Given the description of an element on the screen output the (x, y) to click on. 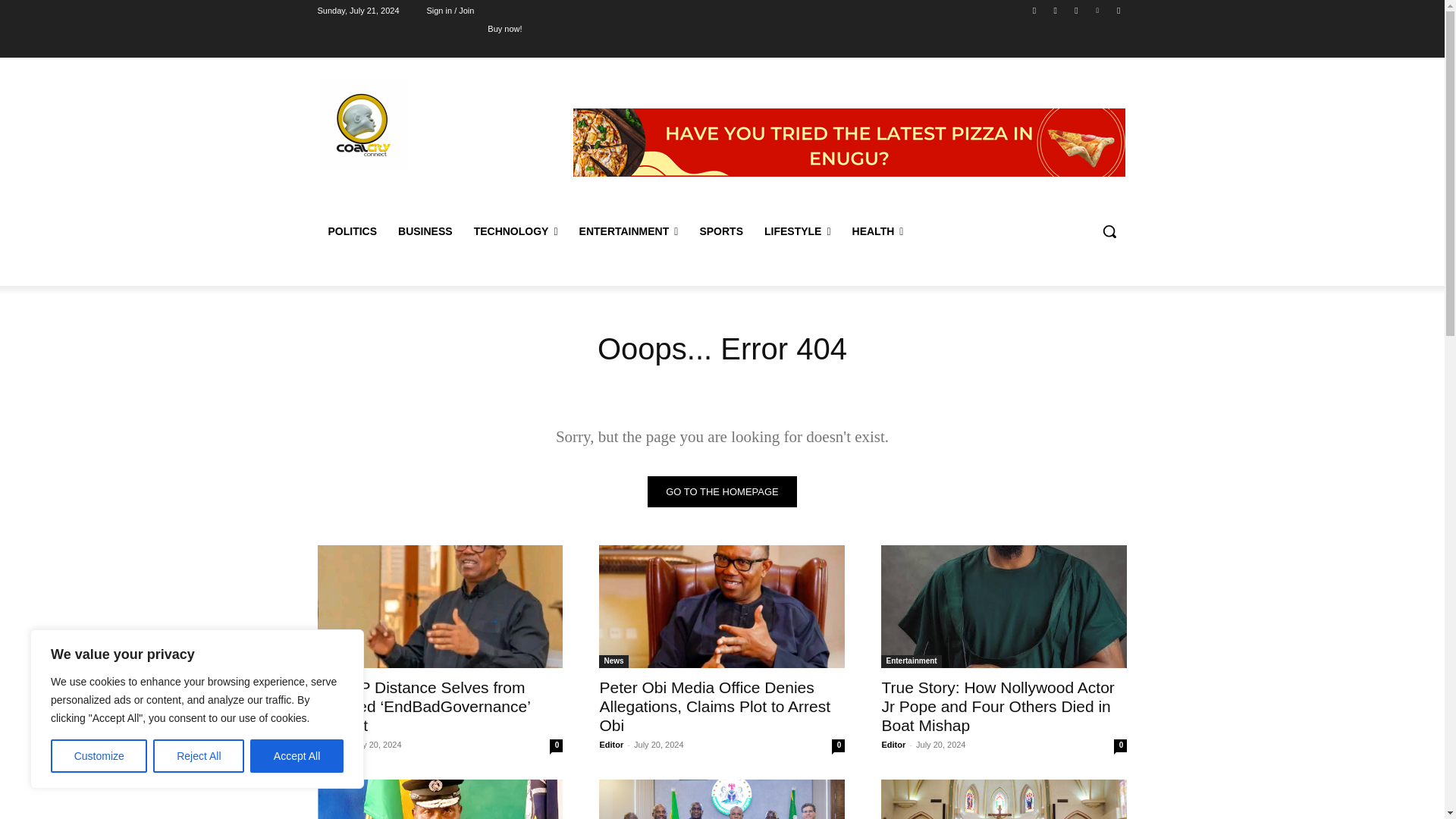
POLITICS (352, 230)
Instagram (1055, 9)
Reject All (198, 756)
Accept All (296, 756)
Customize (98, 756)
BUSINESS (425, 230)
Youtube (1117, 9)
Facebook (1034, 9)
TECHNOLOGY (516, 230)
Buy now! (504, 28)
Twitter (1075, 9)
Vimeo (1097, 9)
